Given the description of an element on the screen output the (x, y) to click on. 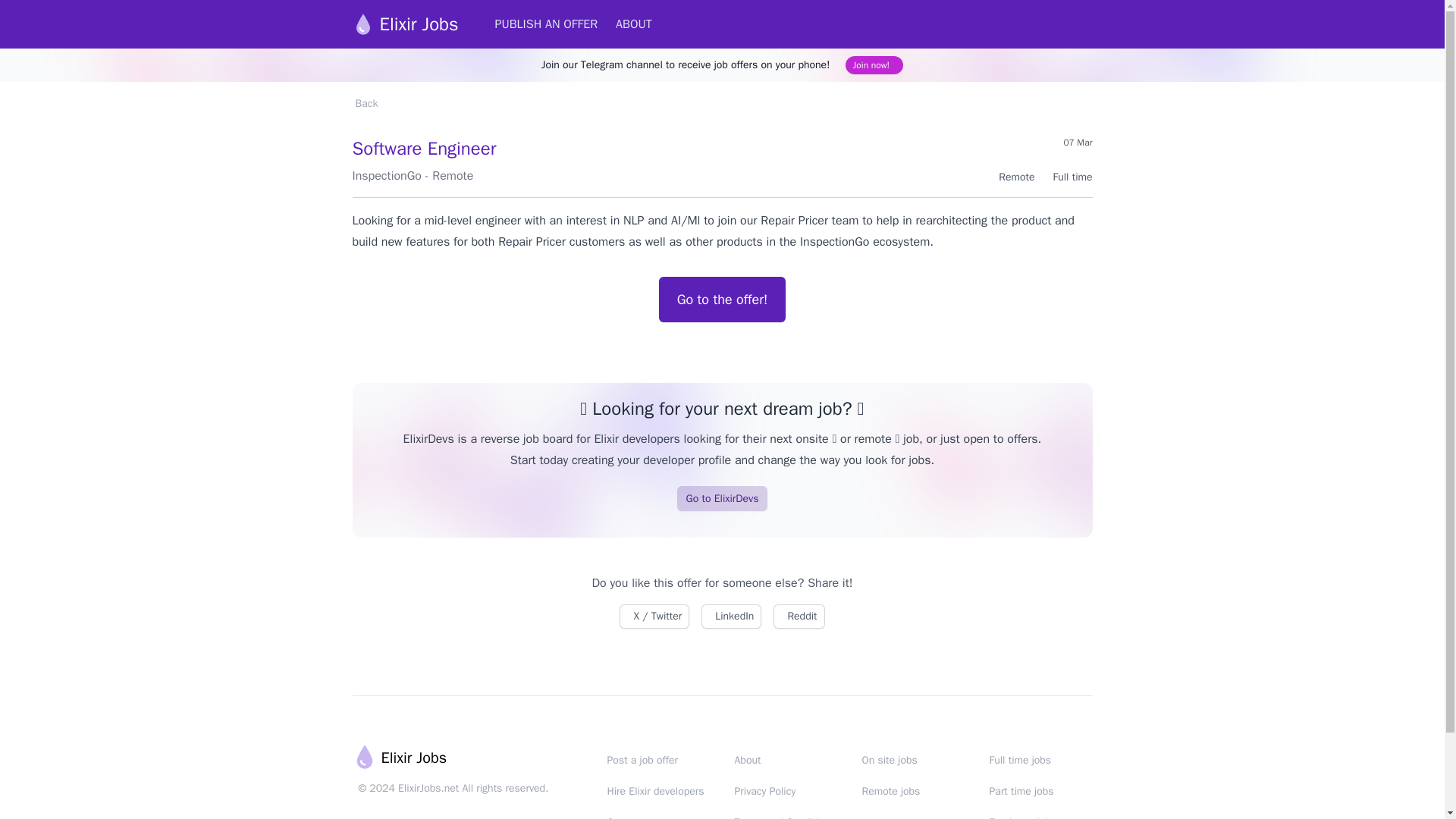
PUBLISH AN OFFER (545, 24)
Part time jobs (1020, 790)
LinkedIn (731, 616)
Privacy Policy (763, 790)
Back (364, 103)
Elixir Jobs (399, 757)
Freelance jobs (1022, 817)
Join now! (874, 65)
Terms and Conditions (784, 817)
Remote jobs (890, 790)
